Given the description of an element on the screen output the (x, y) to click on. 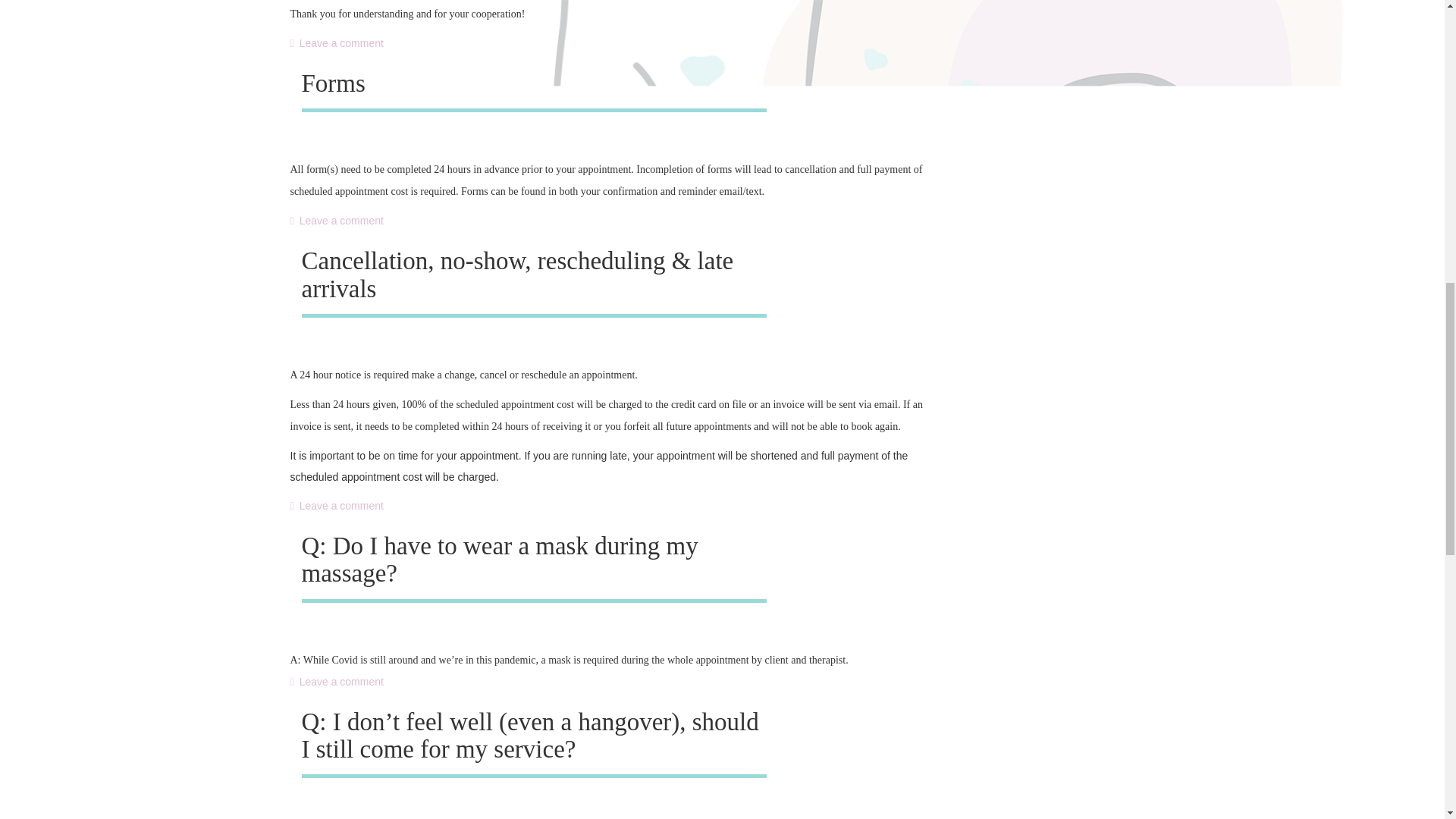
Q: Do I have to wear a mask during my massage? (499, 559)
Leave a comment (335, 681)
Leave a comment (335, 505)
Leave a comment (335, 42)
Forms (333, 83)
Leave a comment (335, 220)
